Given the description of an element on the screen output the (x, y) to click on. 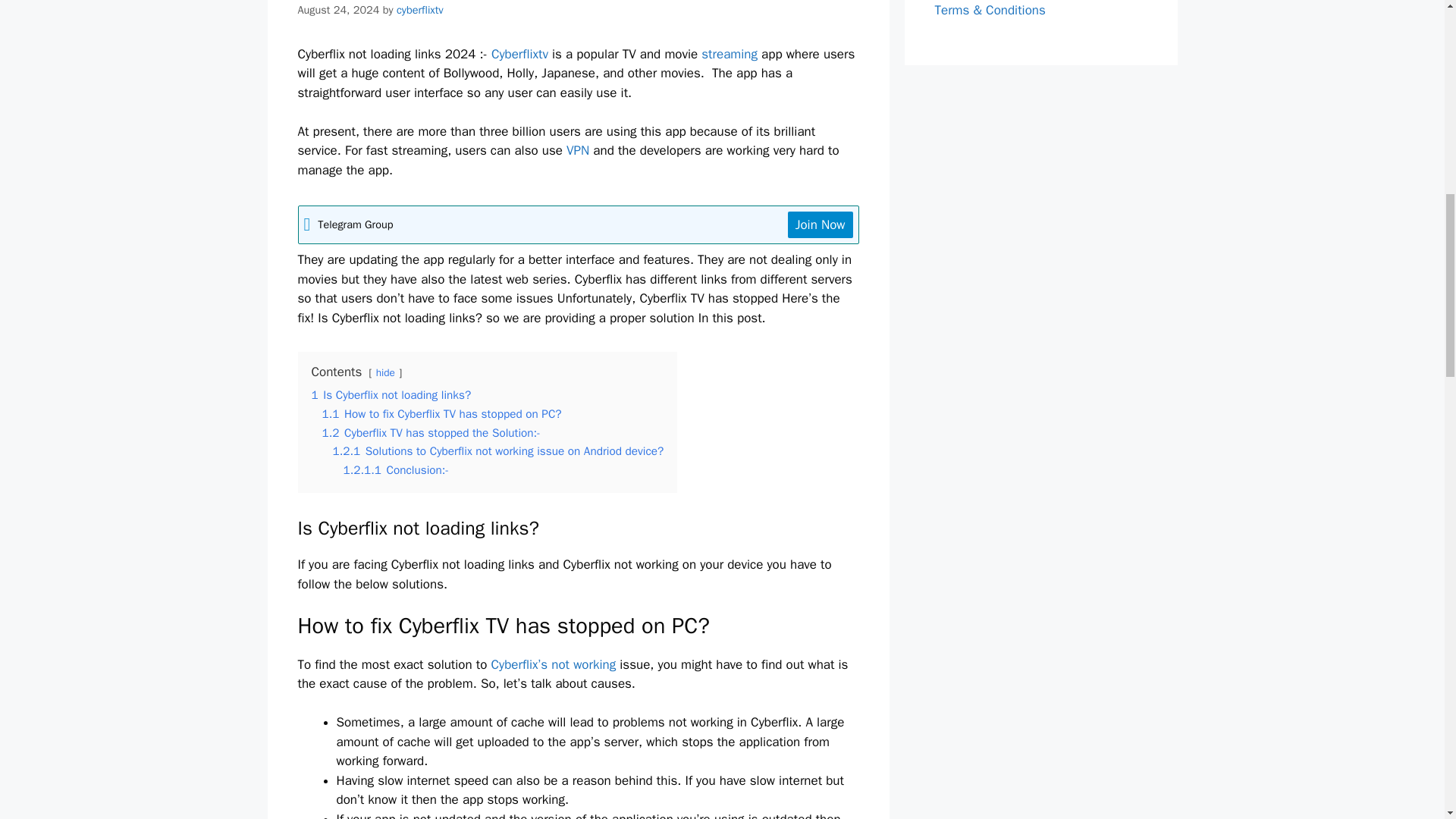
hide (384, 372)
cyberflixtv (420, 9)
VPN (577, 150)
Cyberflixtv  (521, 53)
streaming (729, 53)
1.1 How to fix Cyberflix TV has stopped on PC? (440, 413)
View all posts by cyberflixtv (420, 9)
Join Now (820, 225)
1.2.1.1 Conclusion:- (395, 469)
